Given the description of an element on the screen output the (x, y) to click on. 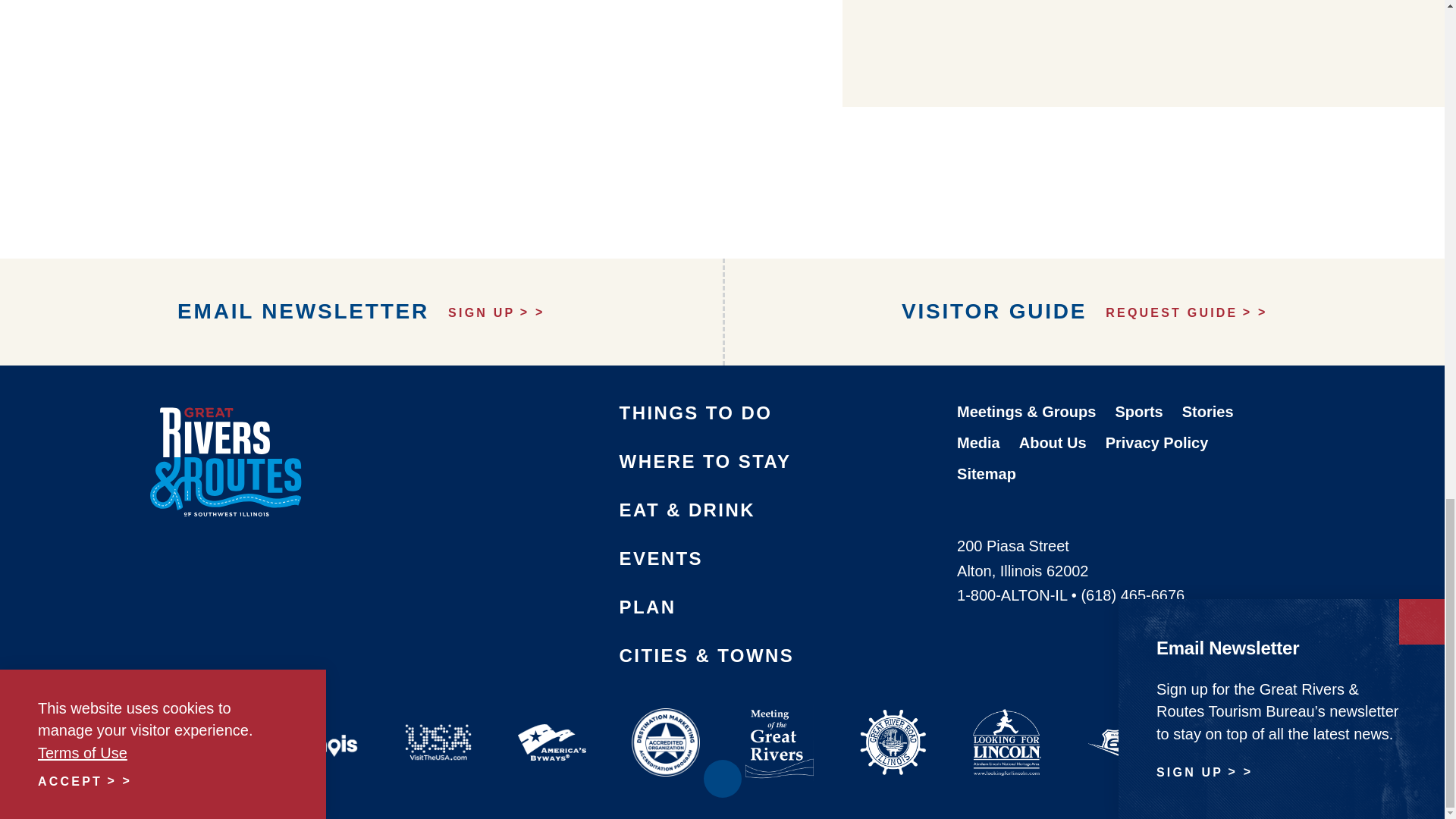
Meeting of the Great Rivers National Scenic Byway! (778, 723)
Looking for Lincoln! (1005, 722)
Enjoy Illinois! (323, 723)
THINGS TO DO (696, 412)
DI Accredited! (665, 723)
Illinois Great River Road! (892, 723)
Visit The USA! (437, 723)
Illinois Route 66! (1119, 722)
REQUEST GUIDE (1185, 312)
America's Byways! (551, 723)
SIGN UP (496, 312)
